Given the description of an element on the screen output the (x, y) to click on. 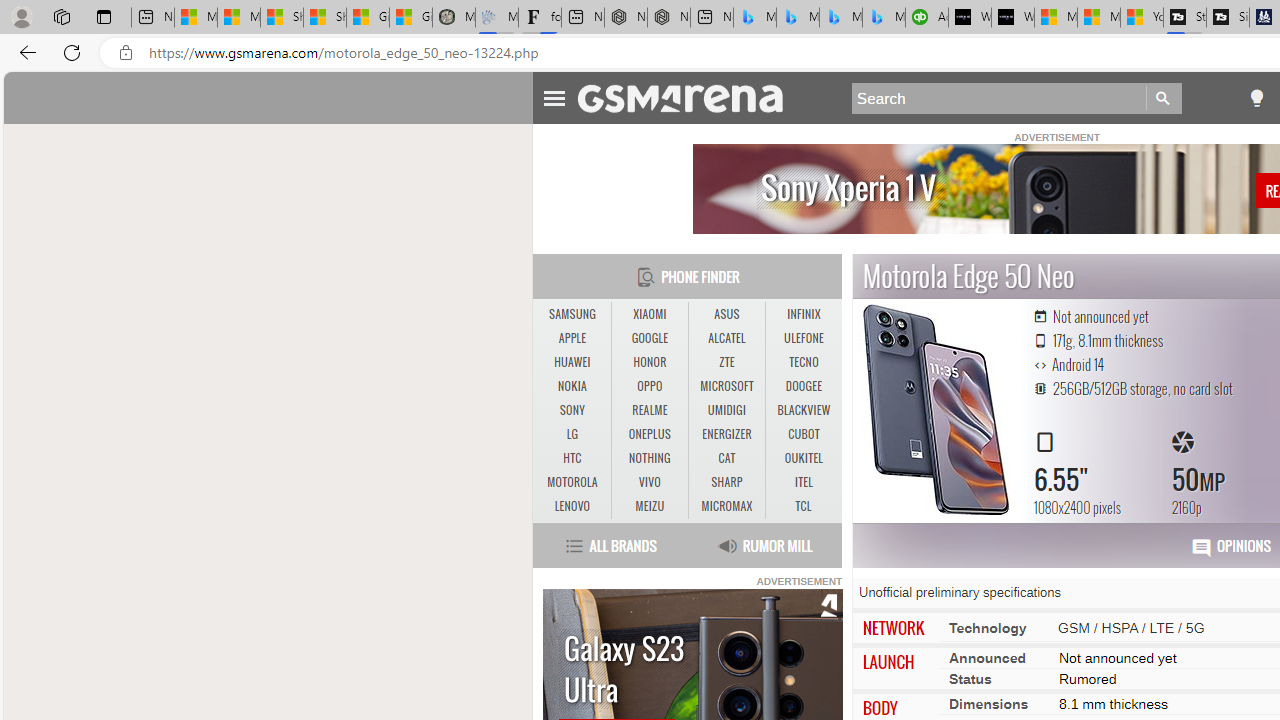
OPPO (649, 385)
Announced (987, 658)
AutomationID: anchor (689, 97)
OUKITEL (803, 458)
ENERGIZER (726, 434)
SAMSUNG (571, 314)
INFINIX (803, 314)
INFINIX (803, 313)
REALME (649, 410)
Nordace - #1 Japanese Best-Seller - Siena Smart Backpack (668, 17)
Gilma and Hector both pose tropical trouble for Hawaii (411, 17)
